Given the description of an element on the screen output the (x, y) to click on. 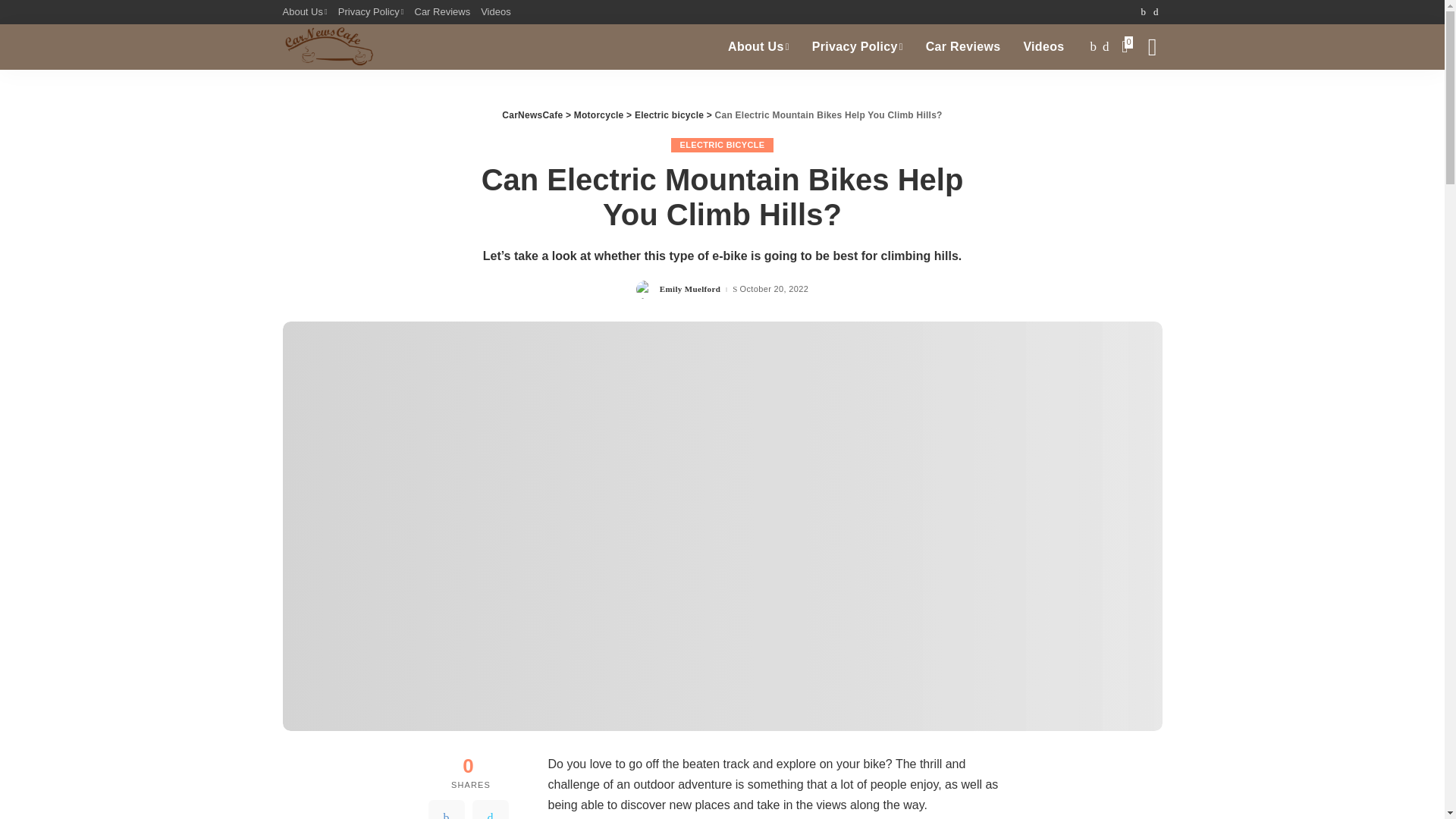
2022-10-20T22:25:44-04:00 (774, 289)
Go to the Motorcycle Category archives. (598, 114)
Privacy Policy (857, 46)
Privacy Policy (371, 12)
Facebook (446, 809)
Go to CarNewsCafe. (532, 114)
Videos (496, 12)
Search (1140, 97)
Car Reviews (962, 46)
Go to the Electric bicycle Category archives. (668, 114)
